Given the description of an element on the screen output the (x, y) to click on. 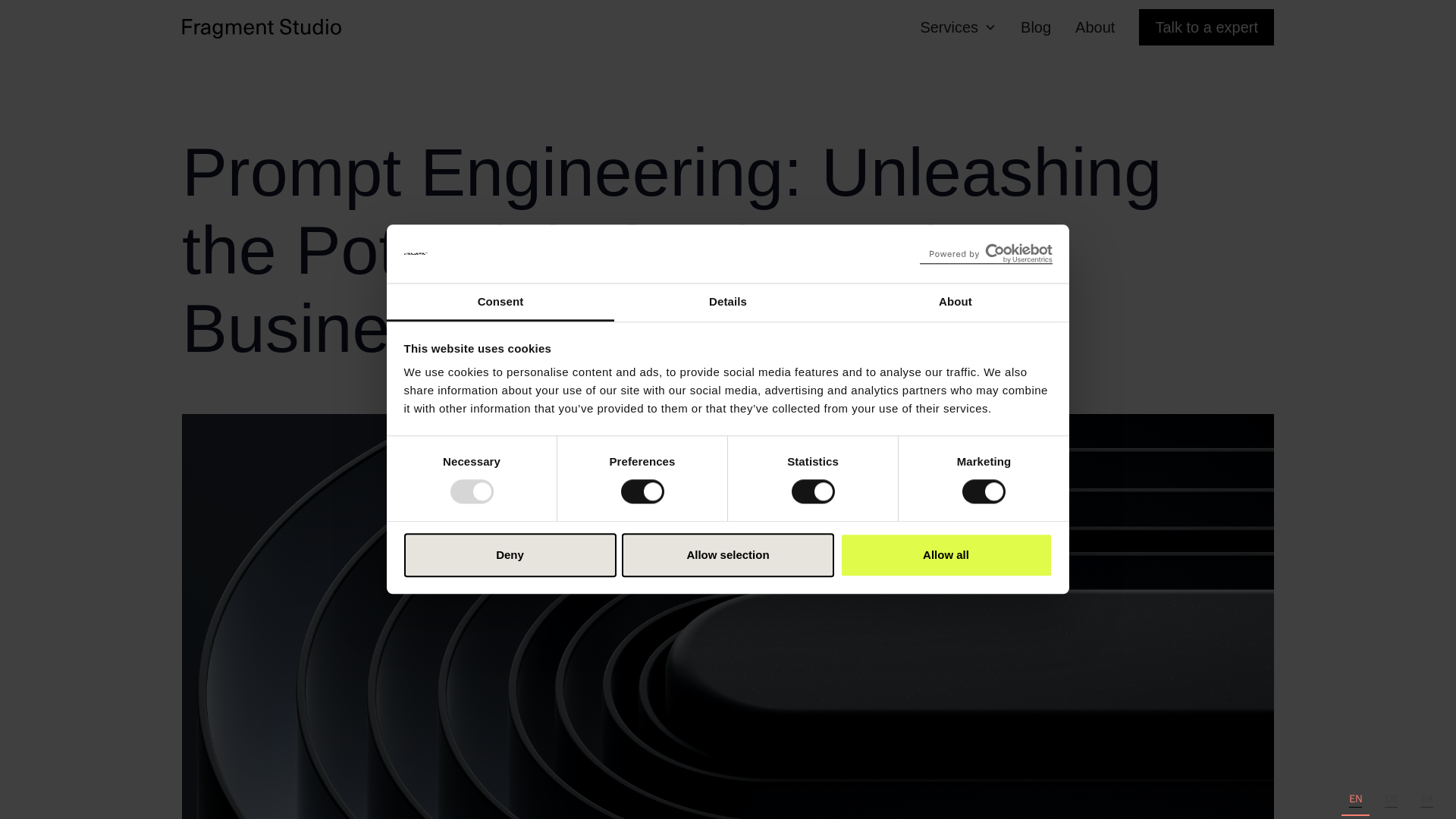
Consent (500, 302)
Details (727, 302)
About (954, 302)
